Given the description of an element on the screen output the (x, y) to click on. 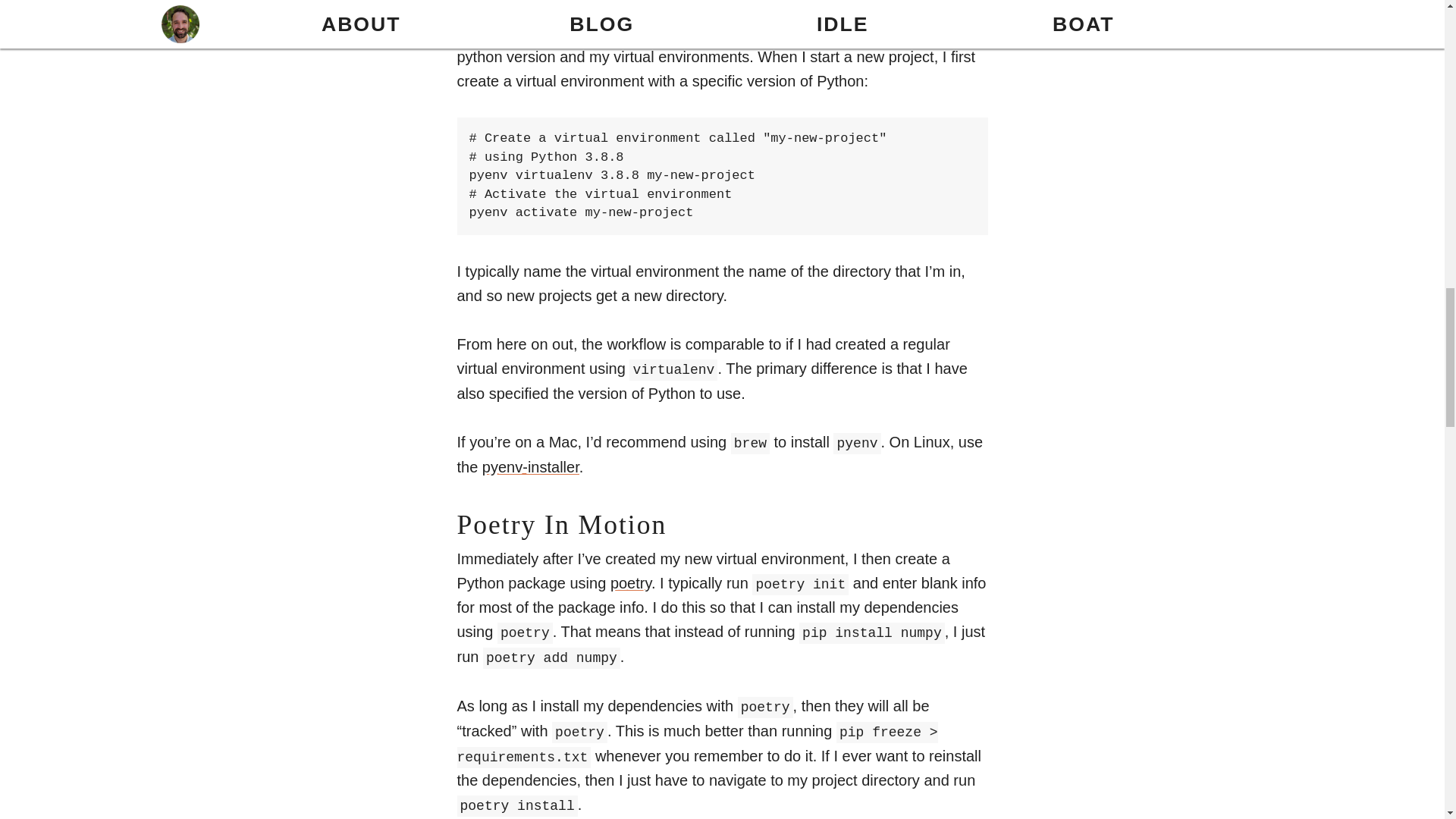
pyenv (513, 7)
pyenv-installer (530, 466)
poetry (630, 582)
pyenv-virtualenv (624, 31)
